Given the description of an element on the screen output the (x, y) to click on. 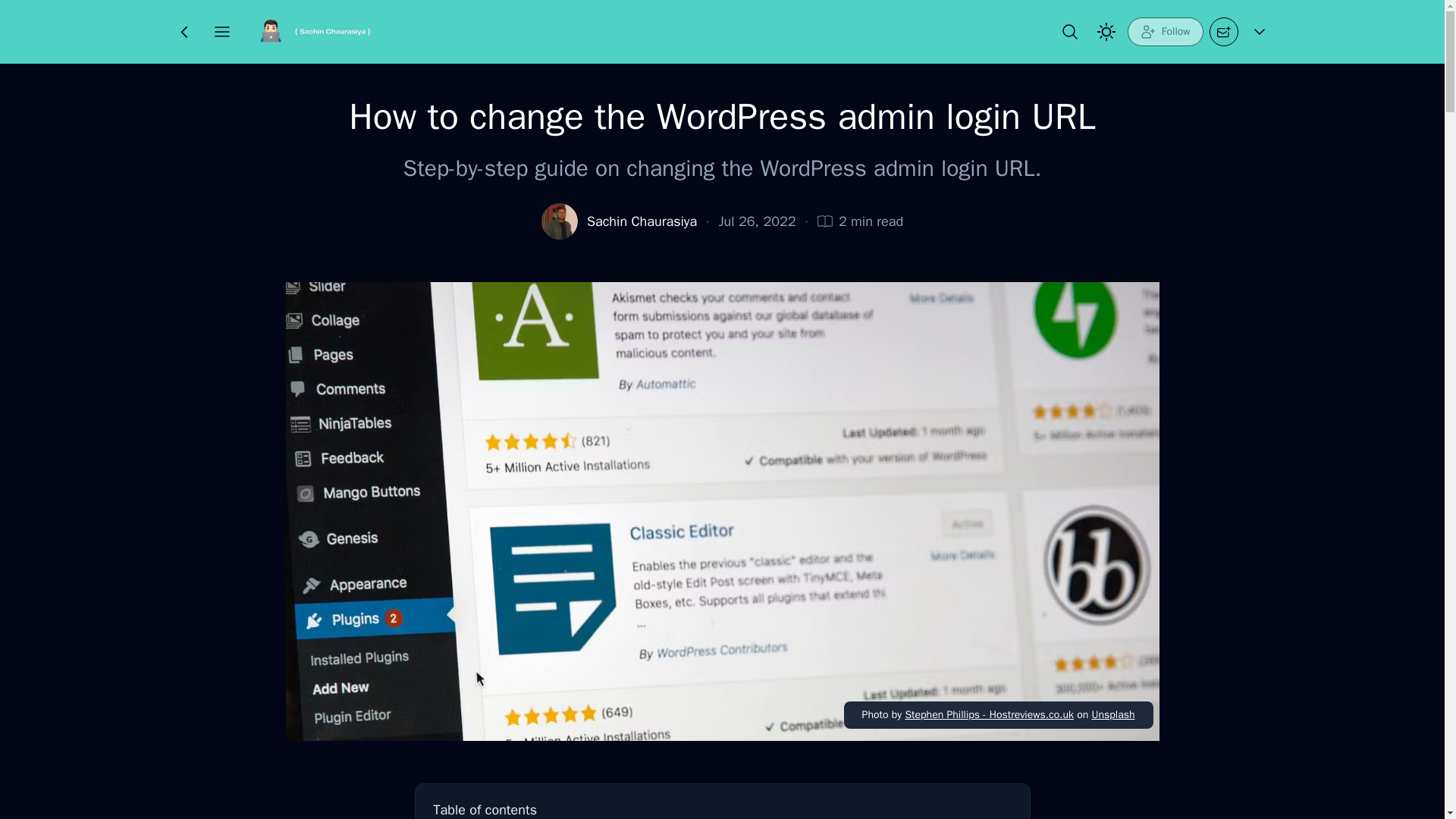
Stephen Phillips - Hostreviews.co.uk (989, 714)
Follow (1165, 31)
Unsplash (1112, 714)
Sachin Chaurasiya (641, 220)
Jul 26, 2022 (755, 220)
